Given the description of an element on the screen output the (x, y) to click on. 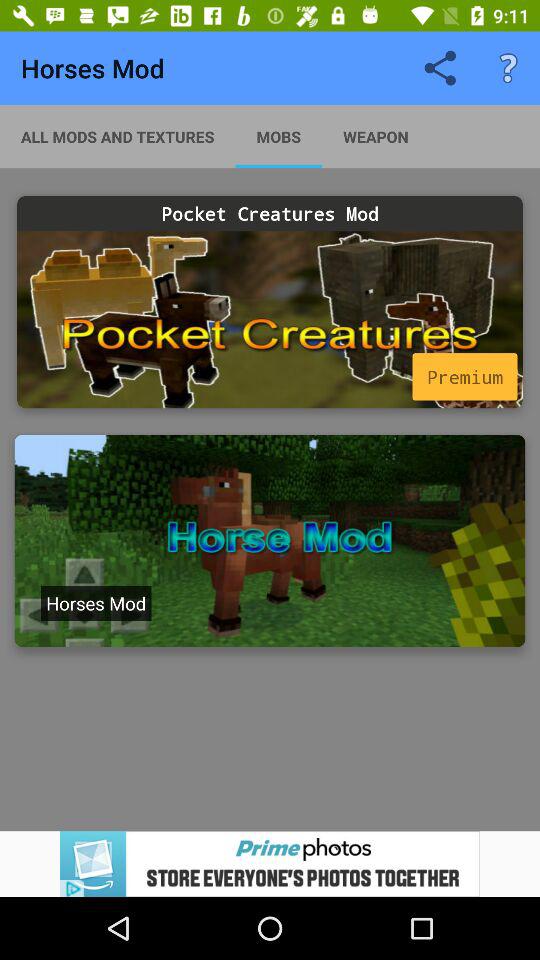
select pocket creatures mod (269, 319)
